Given the description of an element on the screen output the (x, y) to click on. 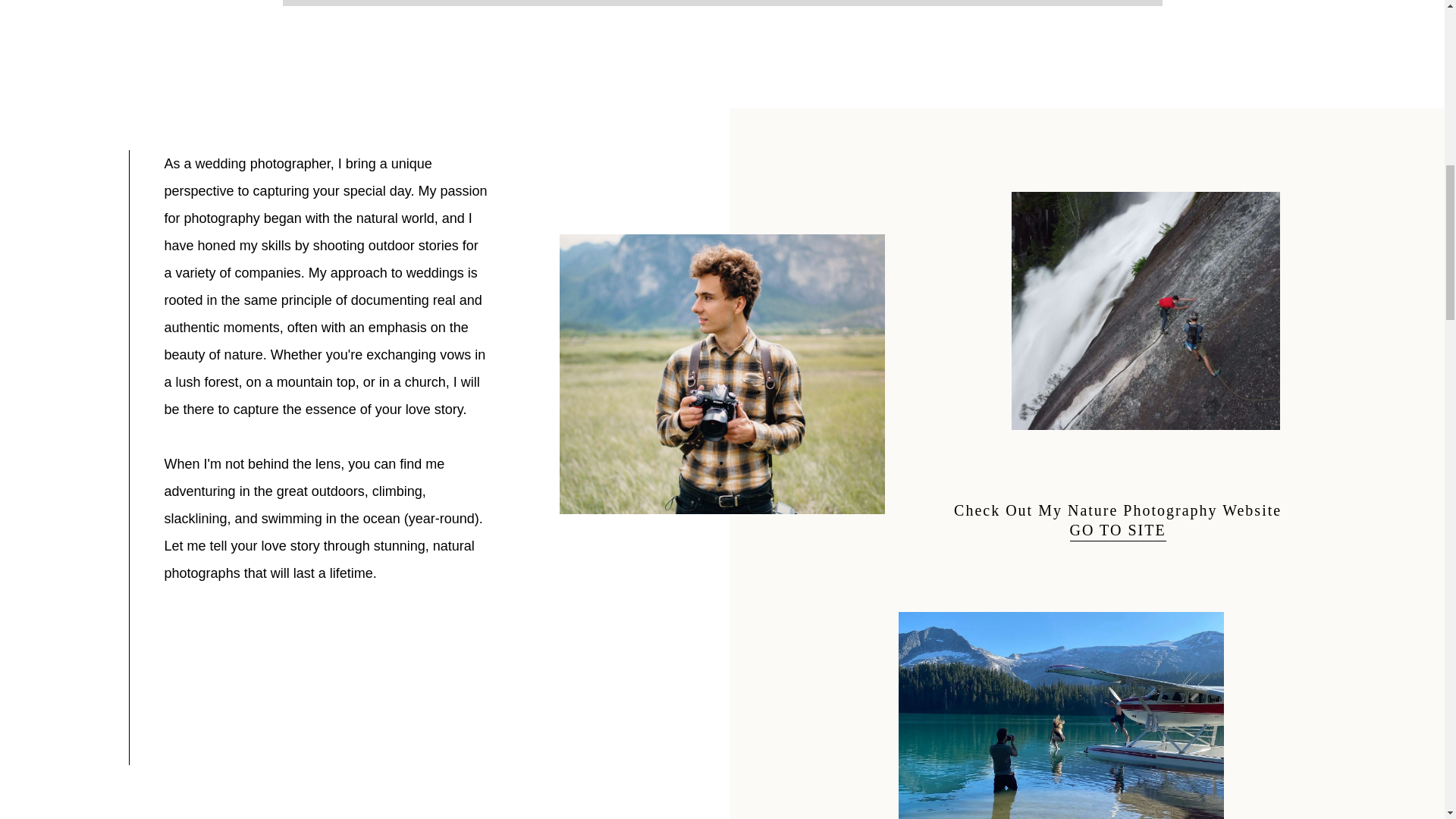
GO TO SITE (1118, 529)
Check Out (992, 510)
My Nature Photography Website (1159, 510)
